Given the description of an element on the screen output the (x, y) to click on. 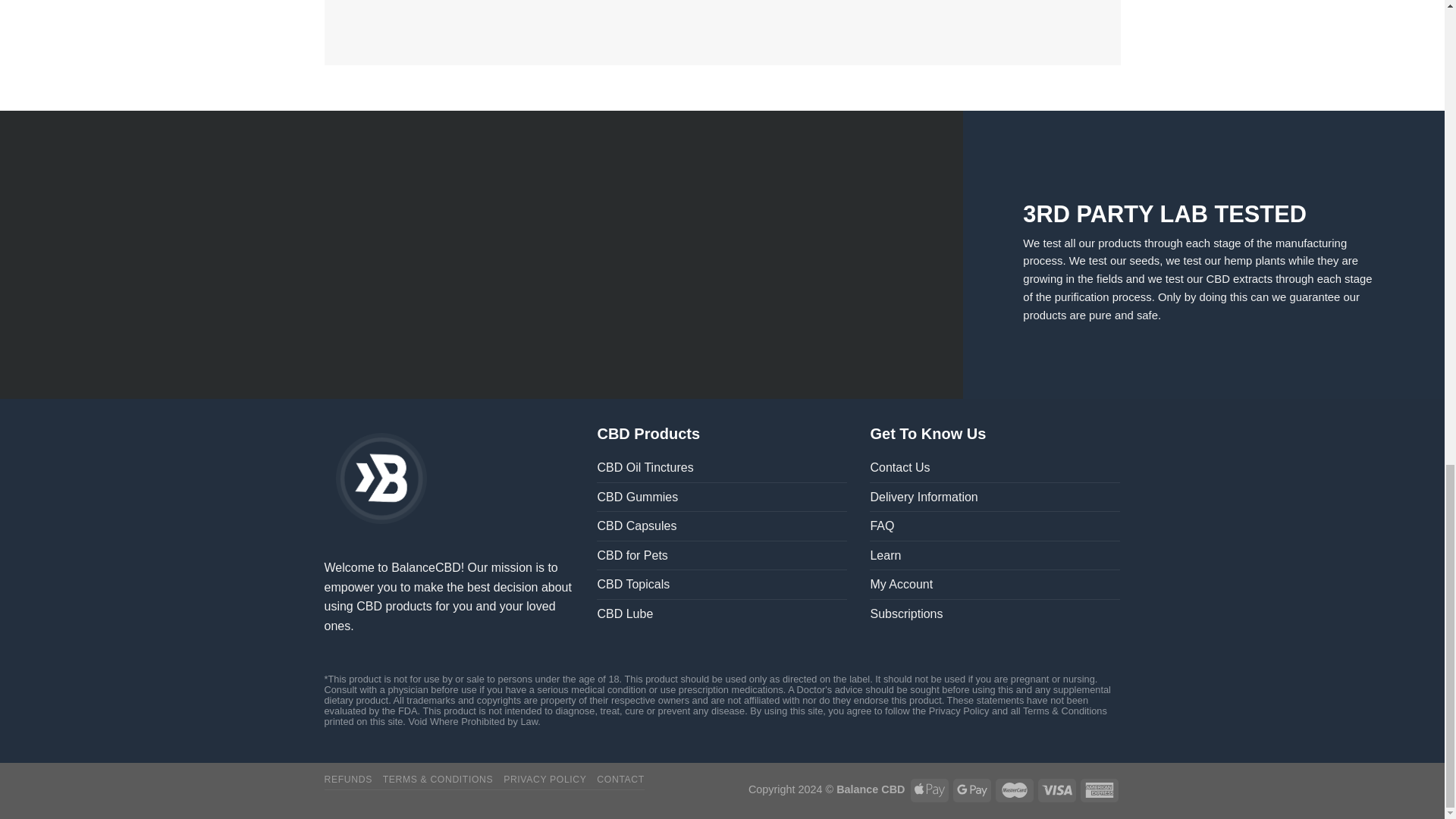
Get To Know Us (927, 433)
CBD Topicals (632, 584)
Learn (885, 555)
CBD Oil Tinctures (644, 467)
FAQ (881, 525)
CBD for Pets (631, 555)
CBD Lube (624, 613)
Delivery Information (922, 497)
CBD Gummies (637, 497)
Contact Us (899, 467)
My Account (901, 584)
Subscriptions (905, 613)
CBD Products (648, 433)
CBD Capsules (636, 525)
